Given the description of an element on the screen output the (x, y) to click on. 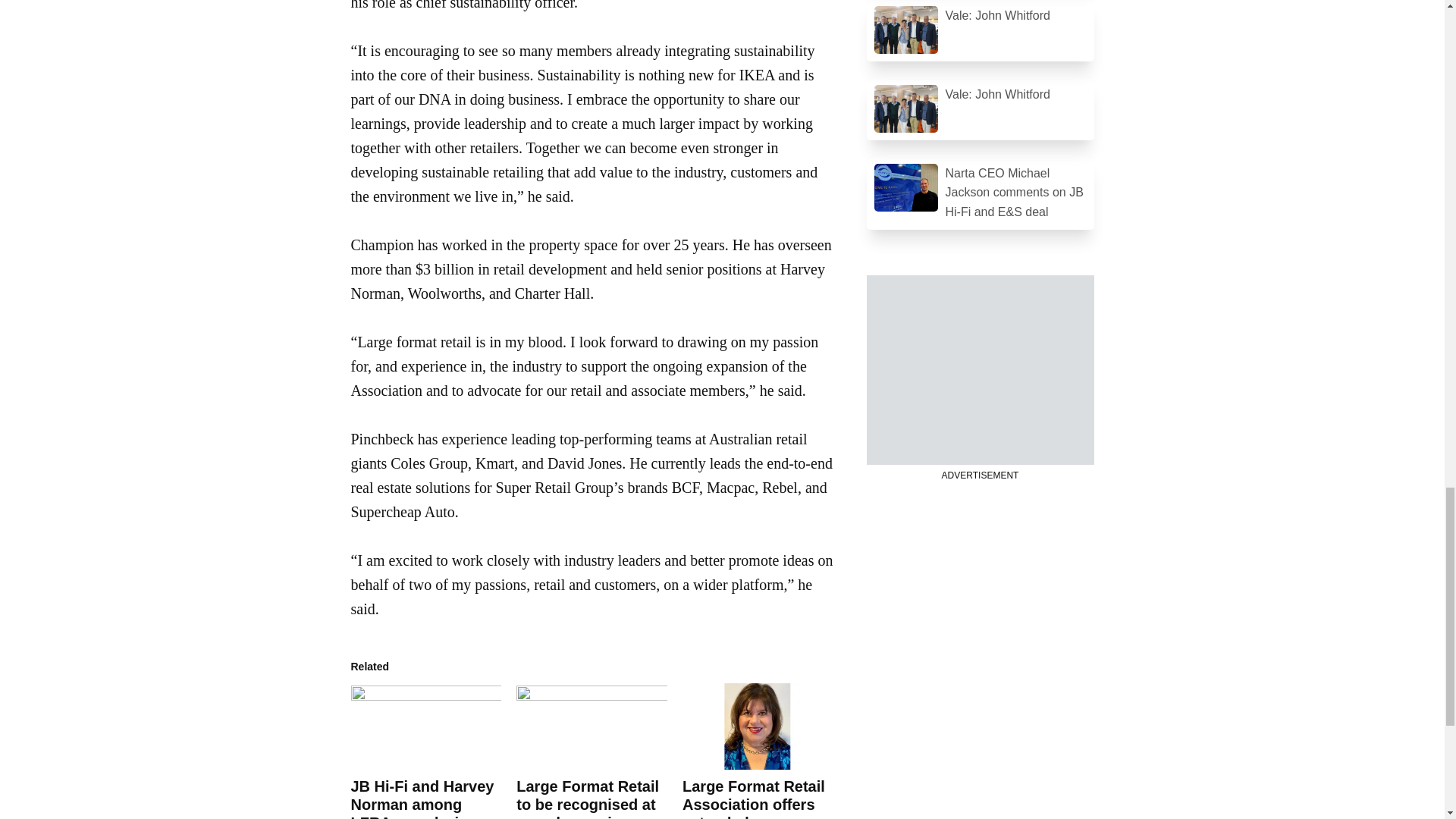
Large Format Retail to be recognised at awards evening (587, 798)
Large Format Retail Association offers extended membership (757, 726)
JB Hi-Fi and Harvey Norman among LFRA award winners (425, 726)
Large Format Retail to be recognised at awards evening (591, 726)
JB Hi-Fi and Harvey Norman among LFRA award winners (424, 798)
Large Format Retail Association offers extended membership (753, 798)
